Given the description of an element on the screen output the (x, y) to click on. 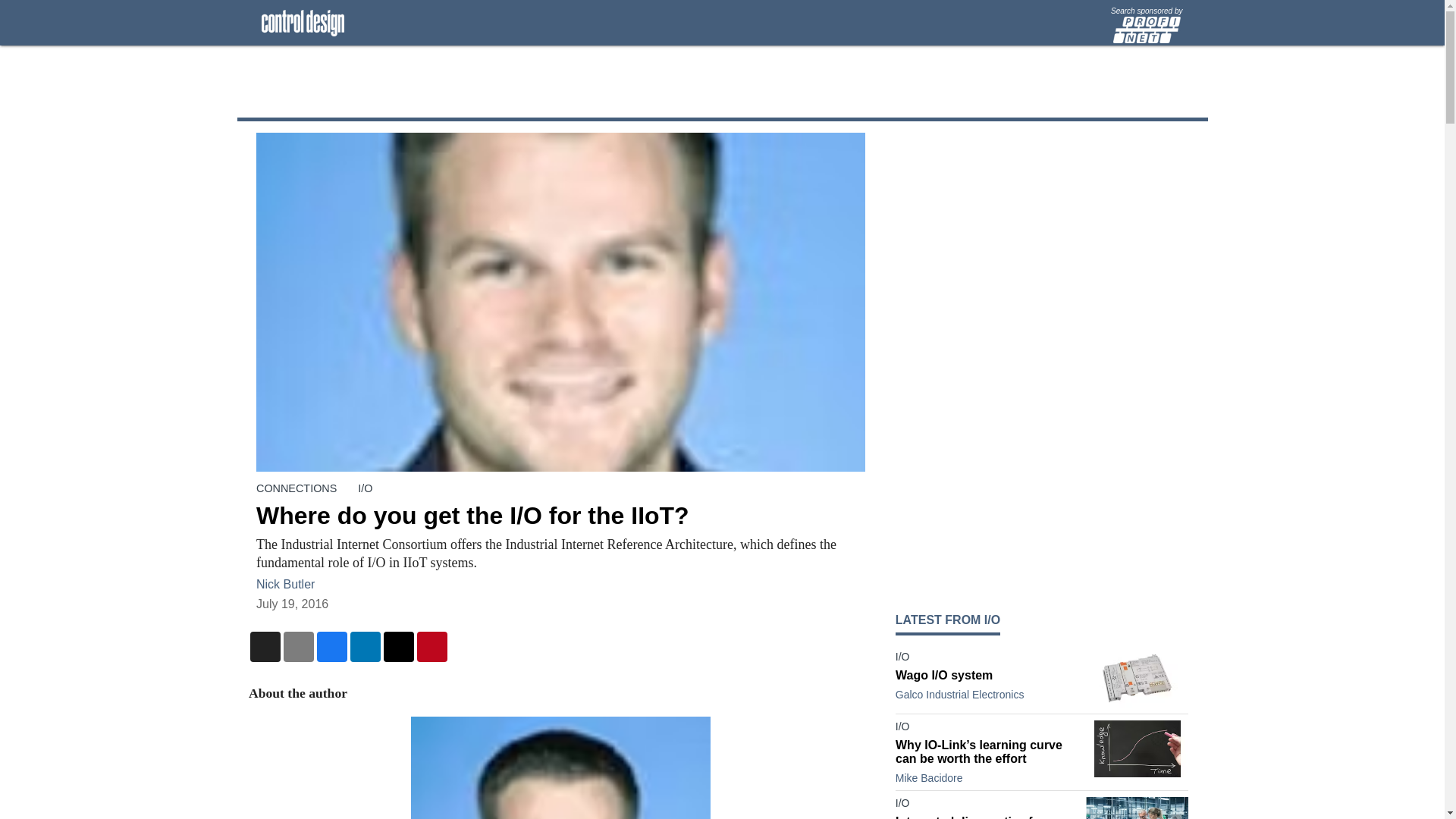
Mike Bacidore (928, 777)
Nick-Butler (560, 767)
CONNECTIONS (296, 488)
Nick Butler (285, 584)
Galco Industrial Electronics (960, 694)
